Given the description of an element on the screen output the (x, y) to click on. 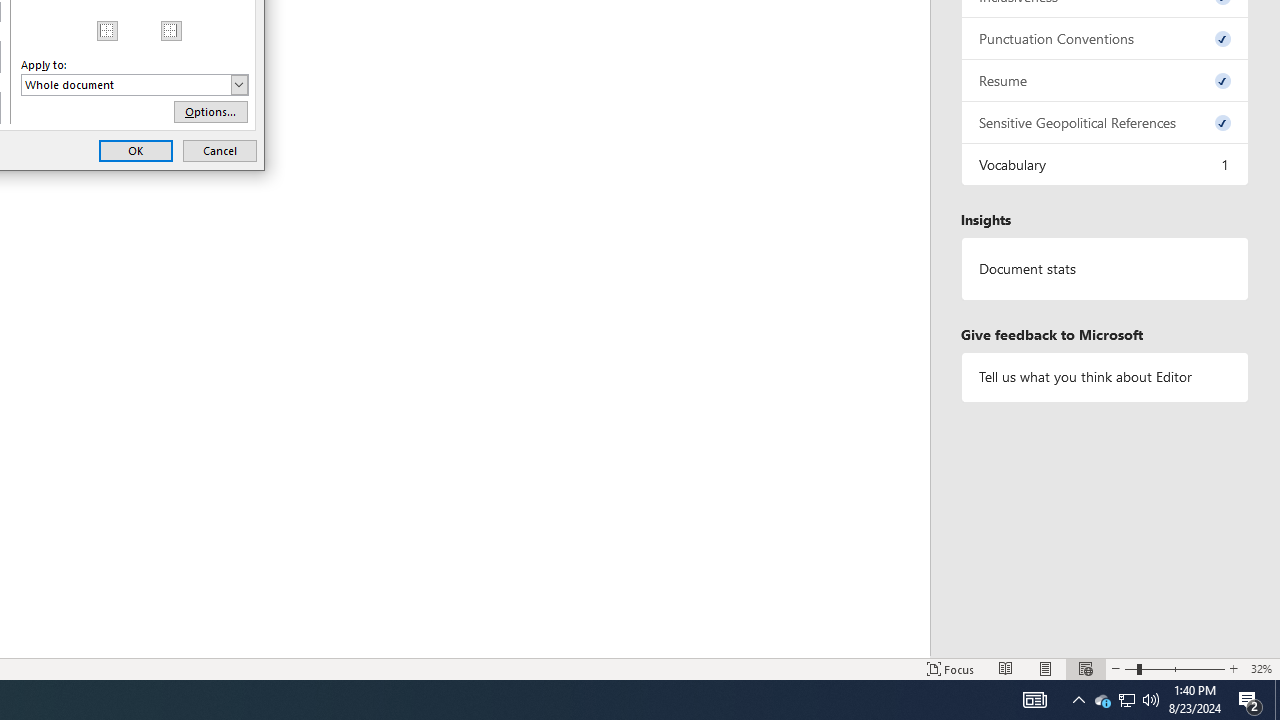
Q2790: 100% (1151, 699)
User Promoted Notification Area (1102, 699)
Resume, 0 issues. Press space or enter to review items. (1126, 699)
Notification Chevron (1105, 79)
Action Center, 2 new notifications (1078, 699)
Right Border (1250, 699)
Show desktop (171, 30)
Cancel (1277, 699)
Tell us what you think about Editor (219, 150)
Left Border (1105, 376)
